Given the description of an element on the screen output the (x, y) to click on. 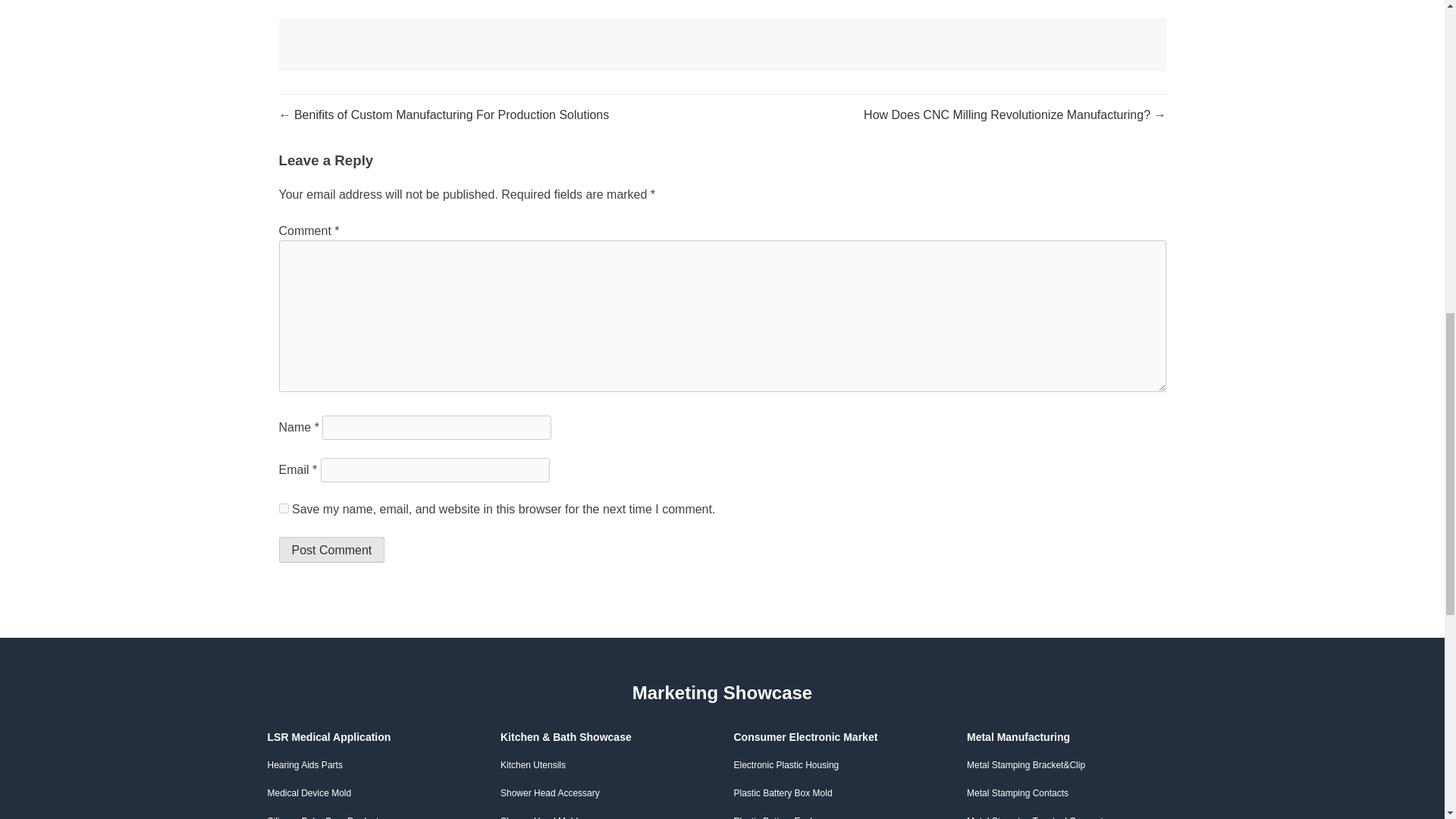
Post Comment (332, 549)
yes (283, 508)
